Given the description of an element on the screen output the (x, y) to click on. 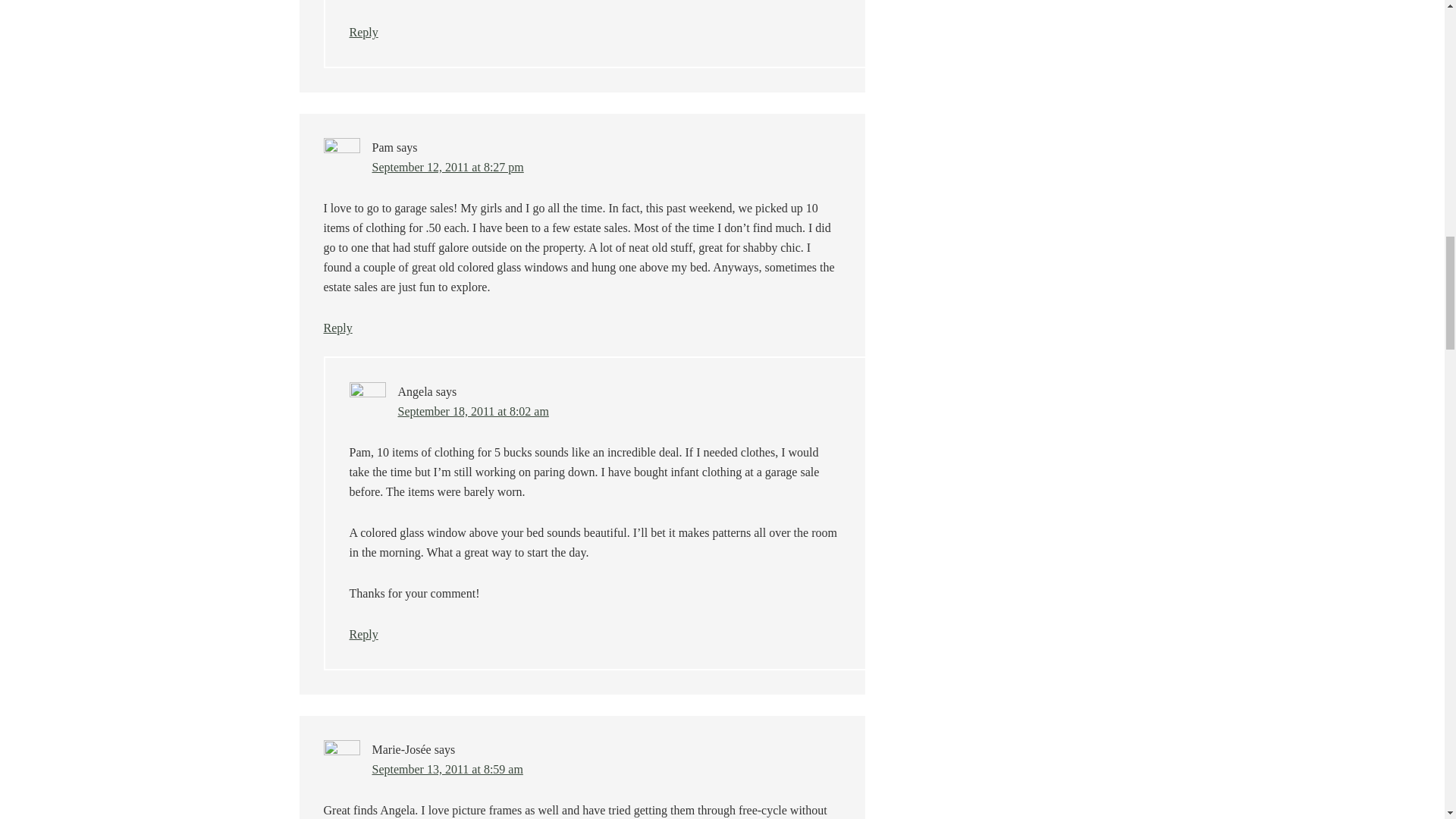
Reply (363, 31)
September 12, 2011 at 8:27 pm (446, 166)
Reply (363, 634)
Reply (337, 327)
September 18, 2011 at 8:02 am (472, 410)
September 13, 2011 at 8:59 am (446, 768)
